Given the description of an element on the screen output the (x, y) to click on. 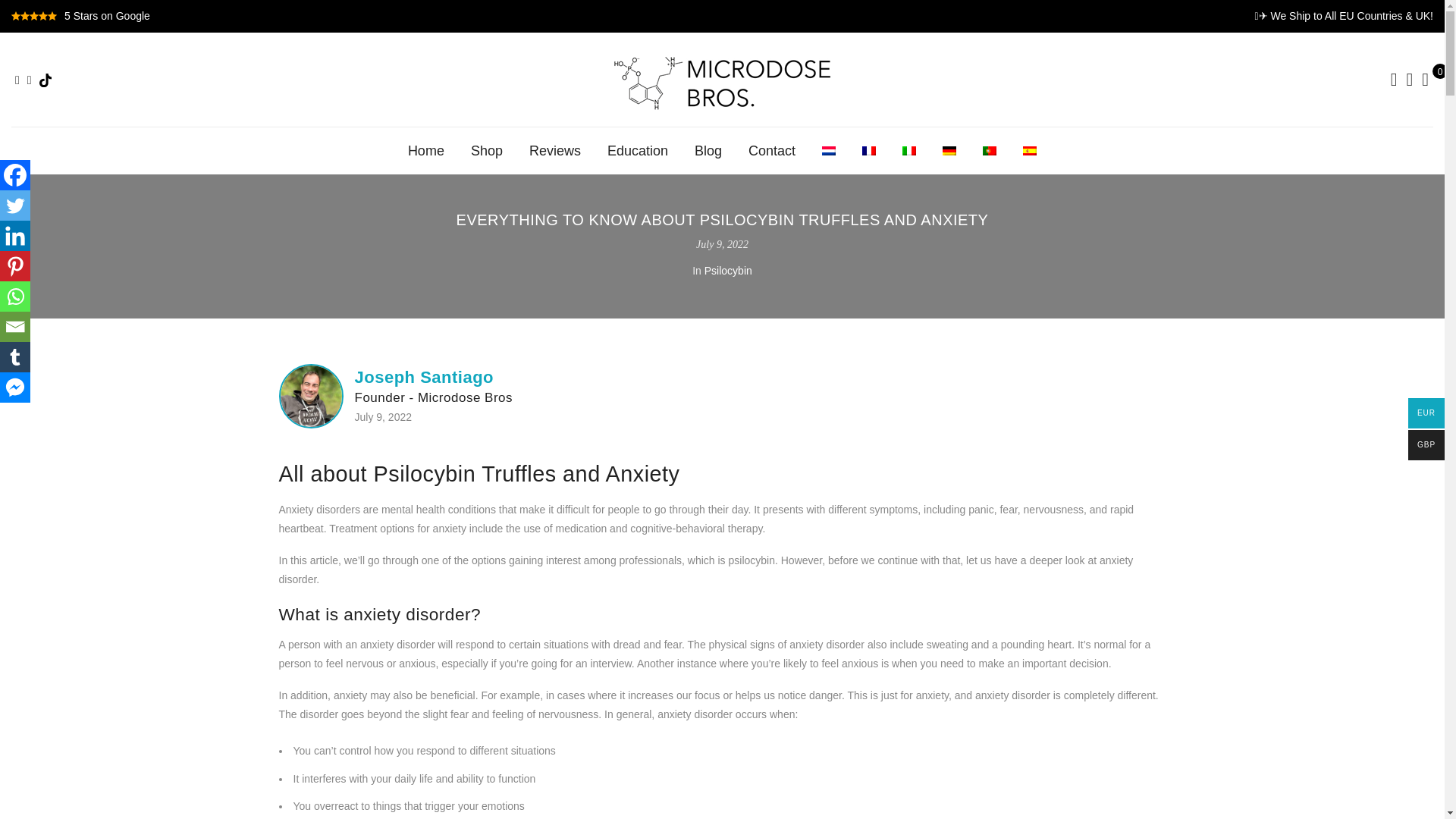
Contact (771, 150)
Whatsapp (15, 296)
Shop (486, 150)
Reviews (554, 150)
Facebook (15, 174)
Email (15, 327)
Linkedin (15, 235)
Home (425, 150)
Tumblr (15, 357)
Blog (708, 150)
